Given the description of an element on the screen output the (x, y) to click on. 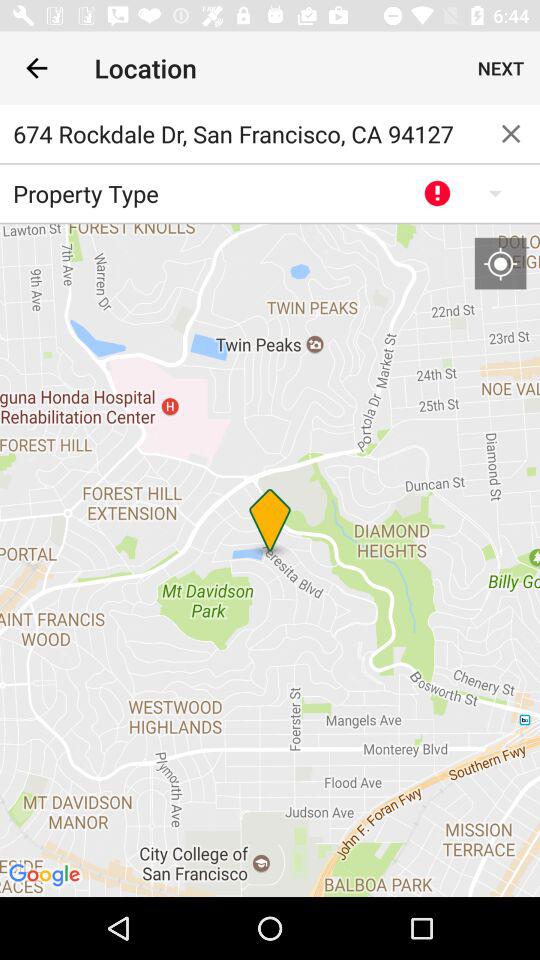
choose the item to the right of 674 rockdale dr (511, 133)
